Given the description of an element on the screen output the (x, y) to click on. 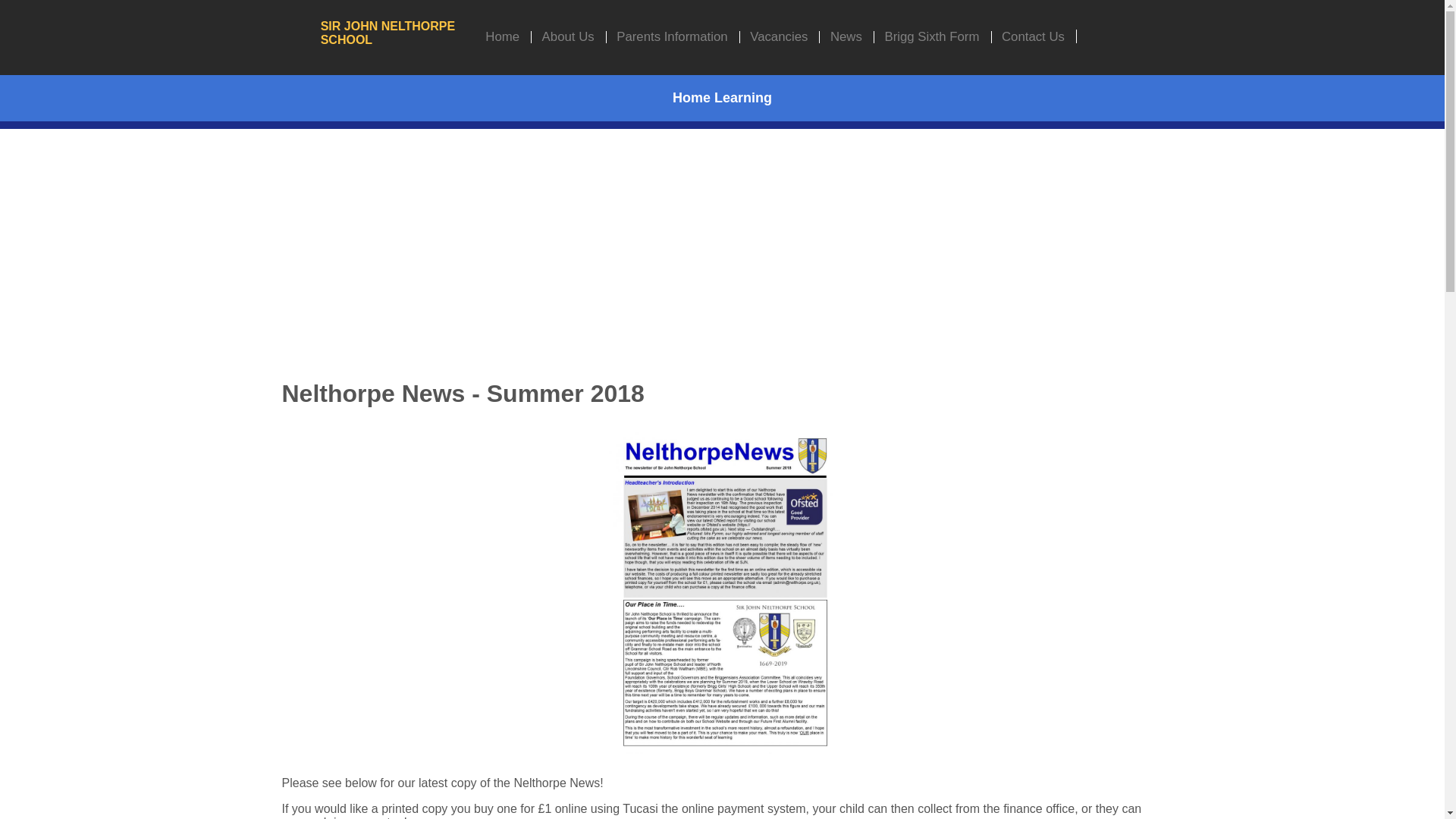
Parents Information (669, 37)
Home (500, 37)
About Us (565, 37)
